Given the description of an element on the screen output the (x, y) to click on. 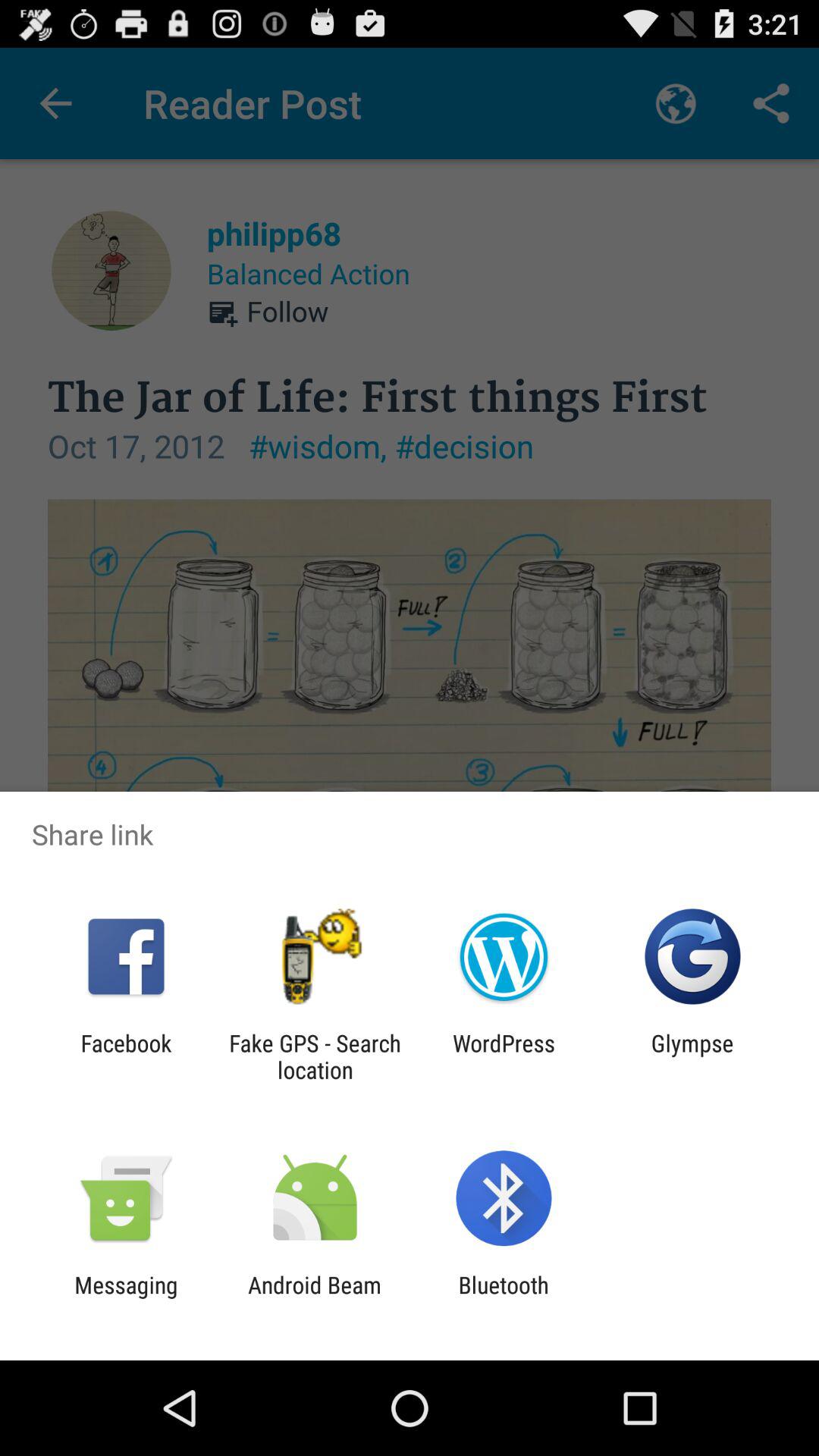
tap messaging app (126, 1298)
